Given the description of an element on the screen output the (x, y) to click on. 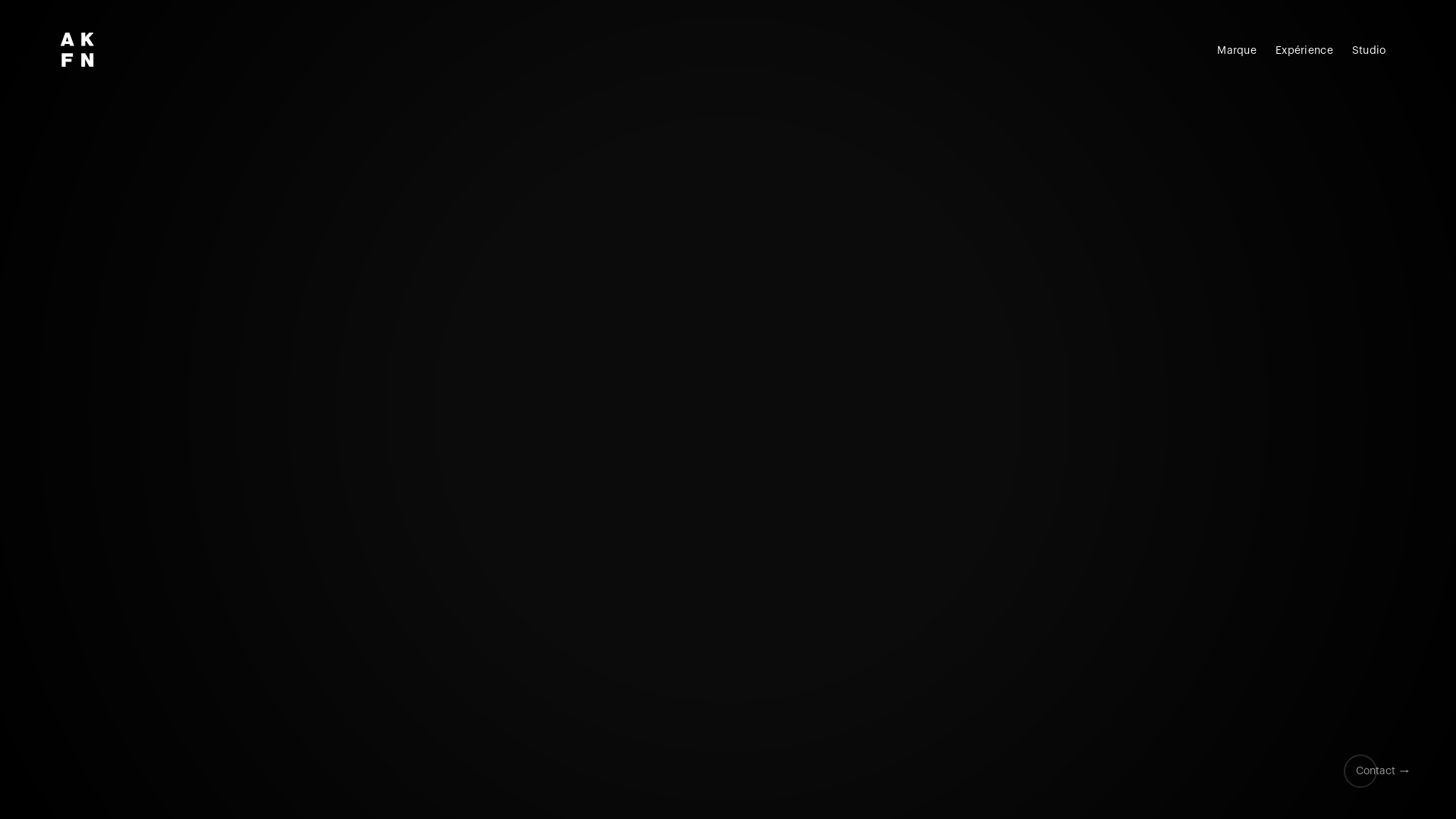
Studio Element type: text (1368, 50)
Contact Element type: text (1375, 771)
Marque Element type: text (1237, 50)
